Given the description of an element on the screen output the (x, y) to click on. 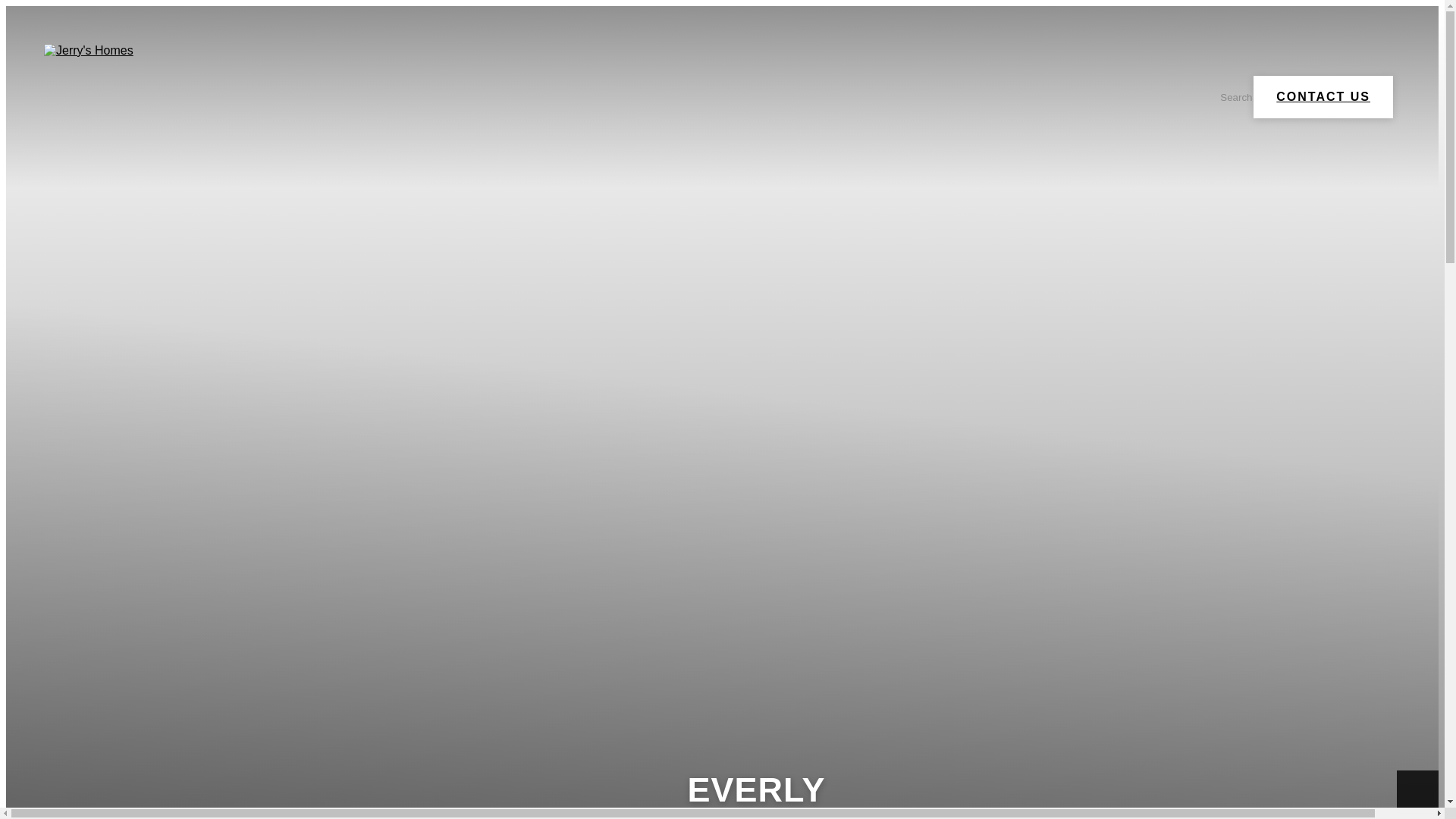
CONTACT US (1323, 96)
Search (1227, 96)
